Given the description of an element on the screen output the (x, y) to click on. 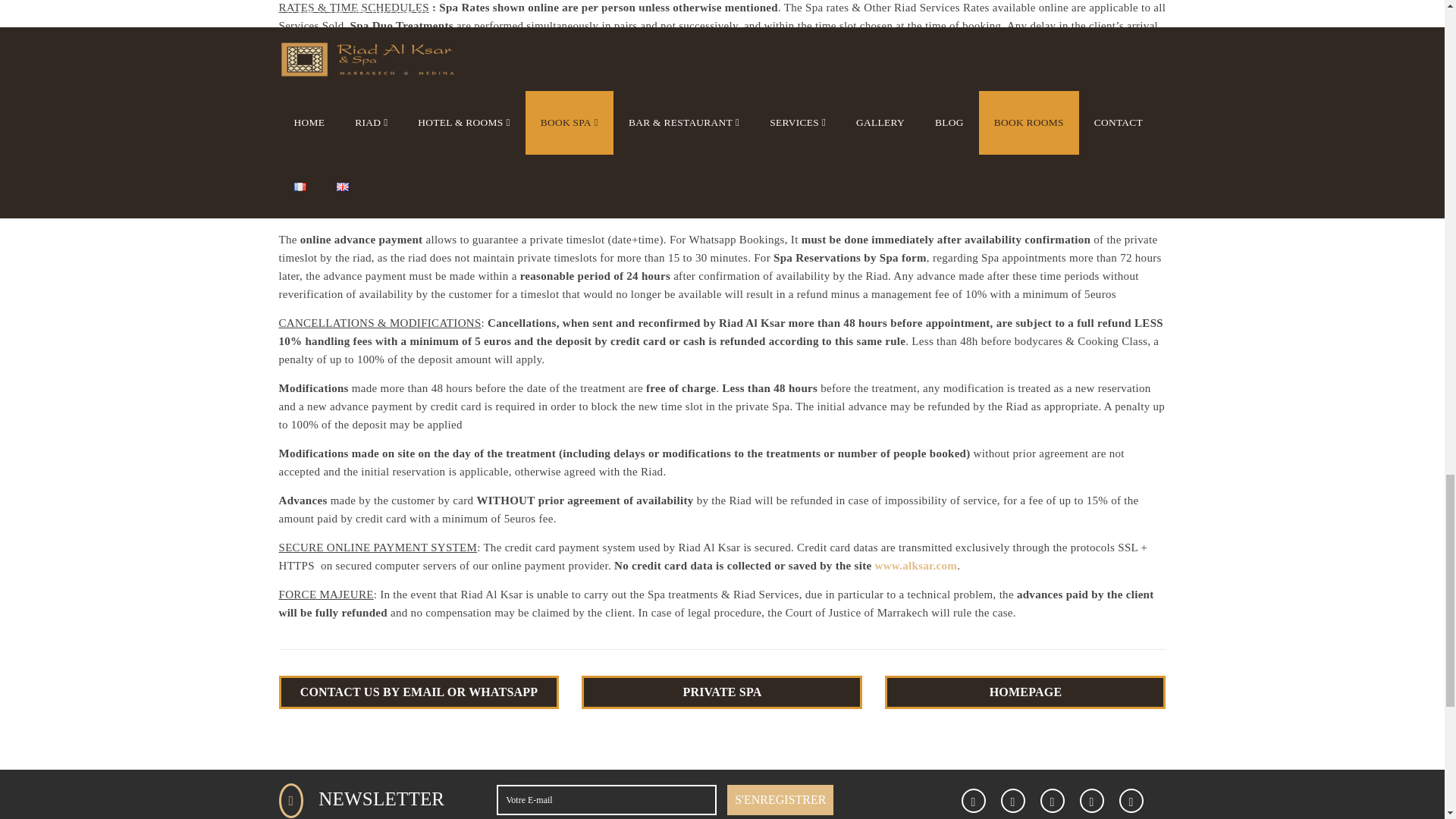
Homepage (1025, 692)
Contact Us (419, 692)
S'enregistrer (779, 799)
Private Spa (720, 692)
